Given the description of an element on the screen output the (x, y) to click on. 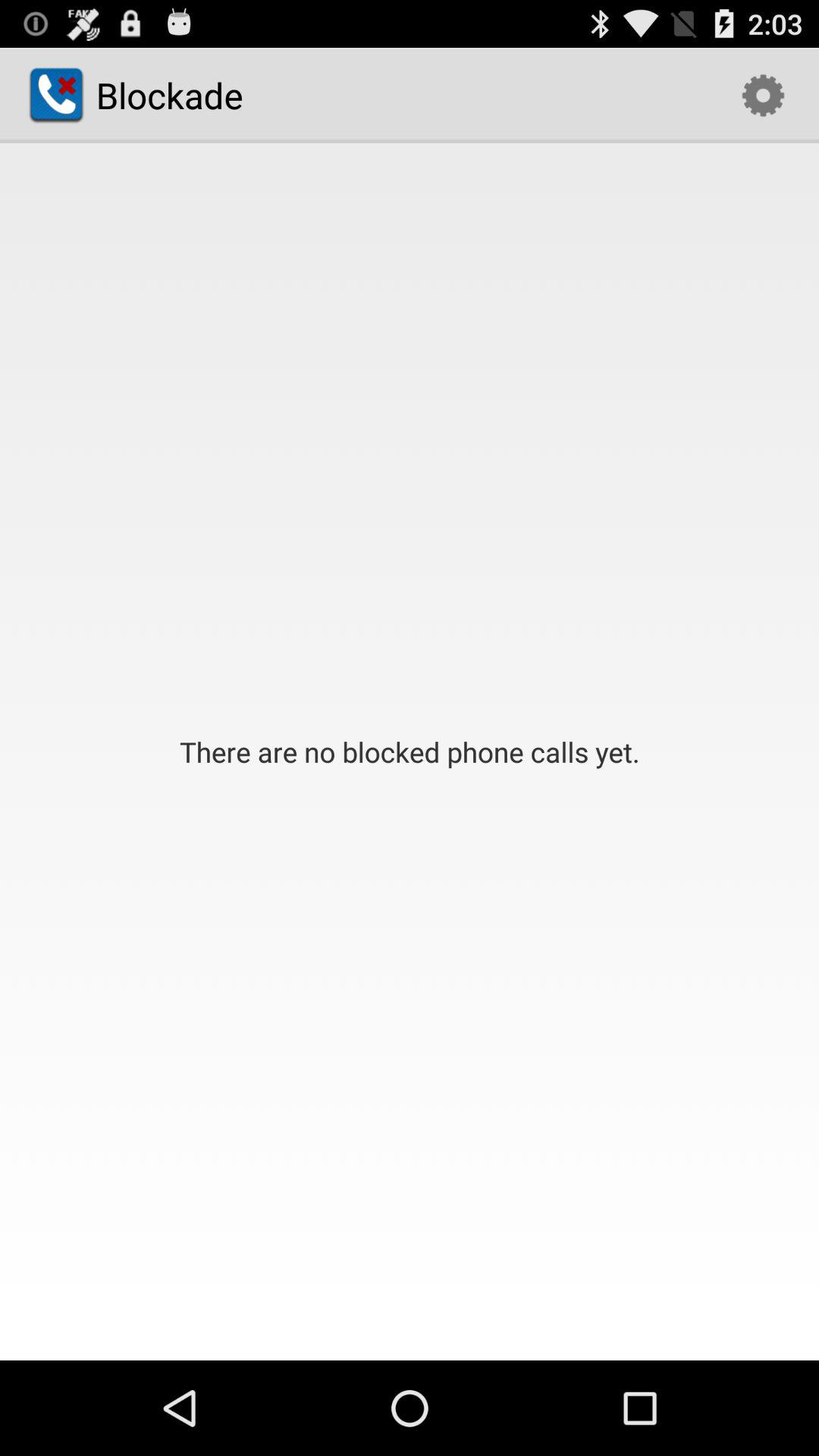
choose the item next to the blockade icon (763, 95)
